Given the description of an element on the screen output the (x, y) to click on. 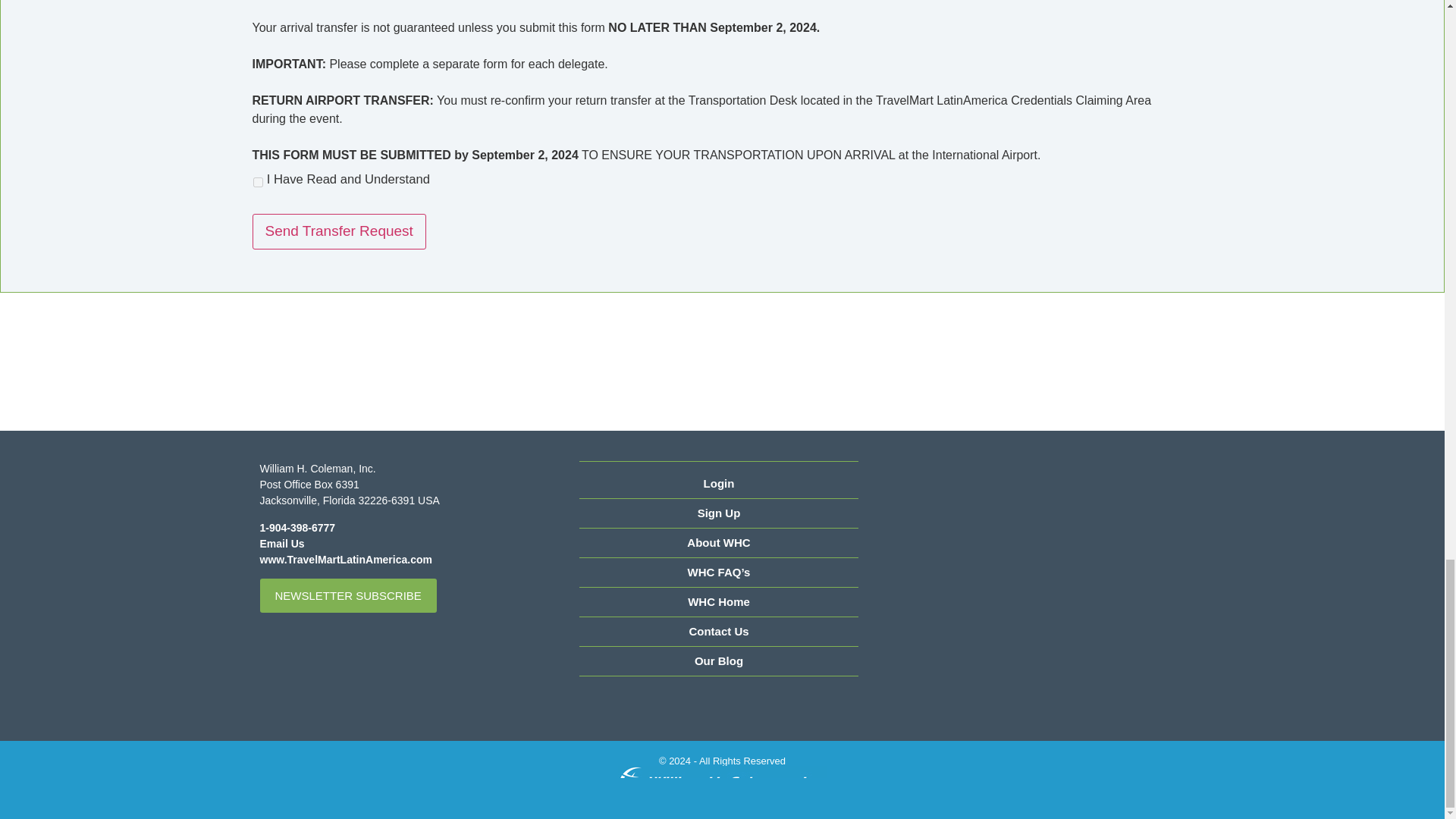
I Have Read and Understand (258, 182)
Send Transfer Request (338, 231)
